Given the description of an element on the screen output the (x, y) to click on. 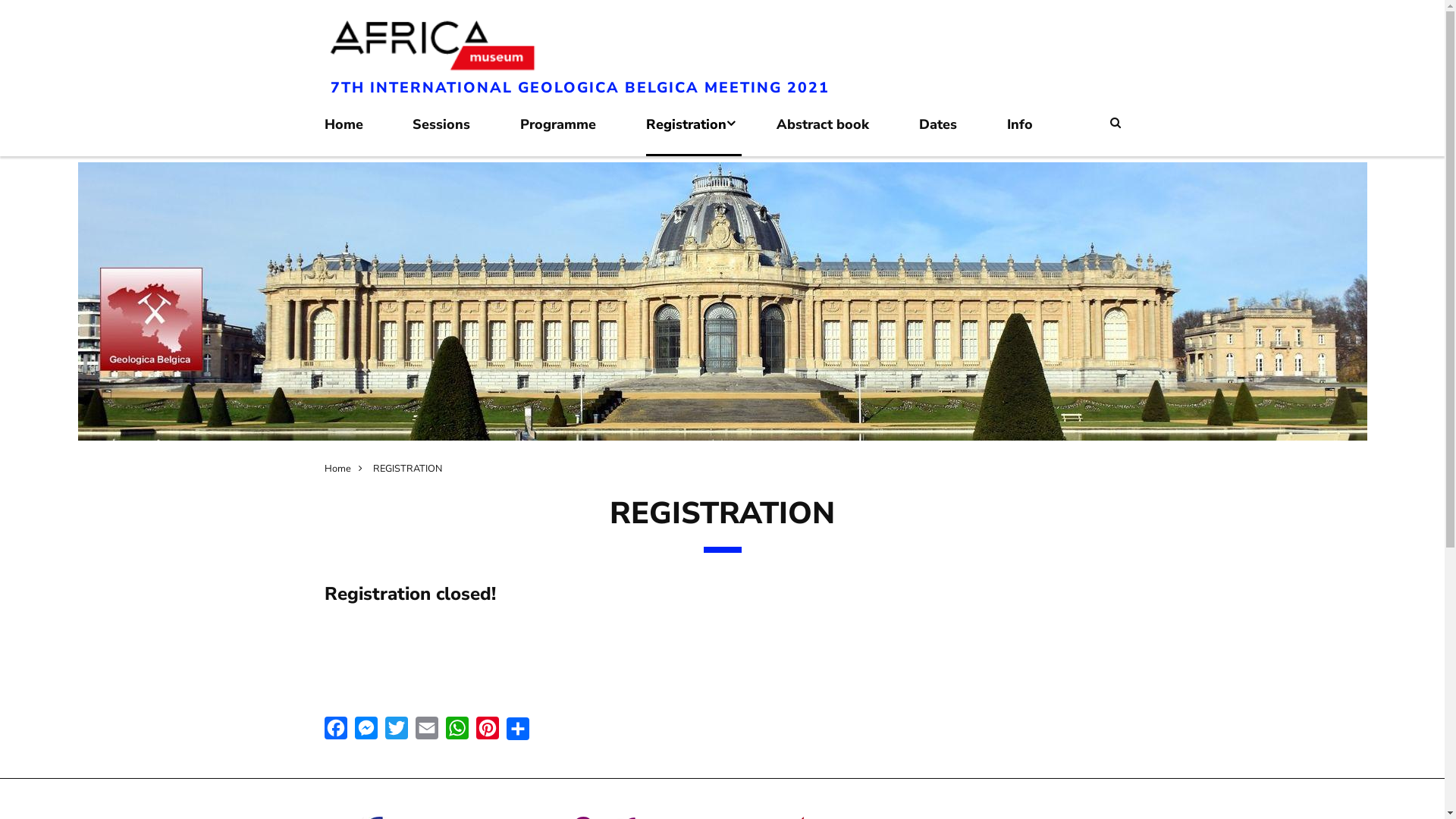
Home Element type: text (351, 132)
Skip to main content Element type: text (0, 7)
Messenger Element type: text (365, 726)
WhatsApp Element type: text (456, 726)
Facebook Element type: text (335, 726)
REGISTRATION Element type: text (407, 468)
Programme Element type: text (565, 132)
Search Element type: text (1115, 122)
Twitter Element type: text (396, 726)
Email Element type: text (426, 726)
Abstract book Element type: text (830, 132)
Dates Element type: text (945, 132)
Sessions Element type: text (448, 132)
Pinterest Element type: text (487, 726)
Info Element type: text (1027, 132)
Share Element type: text (517, 728)
Home Element type: text (347, 468)
